Given the description of an element on the screen output the (x, y) to click on. 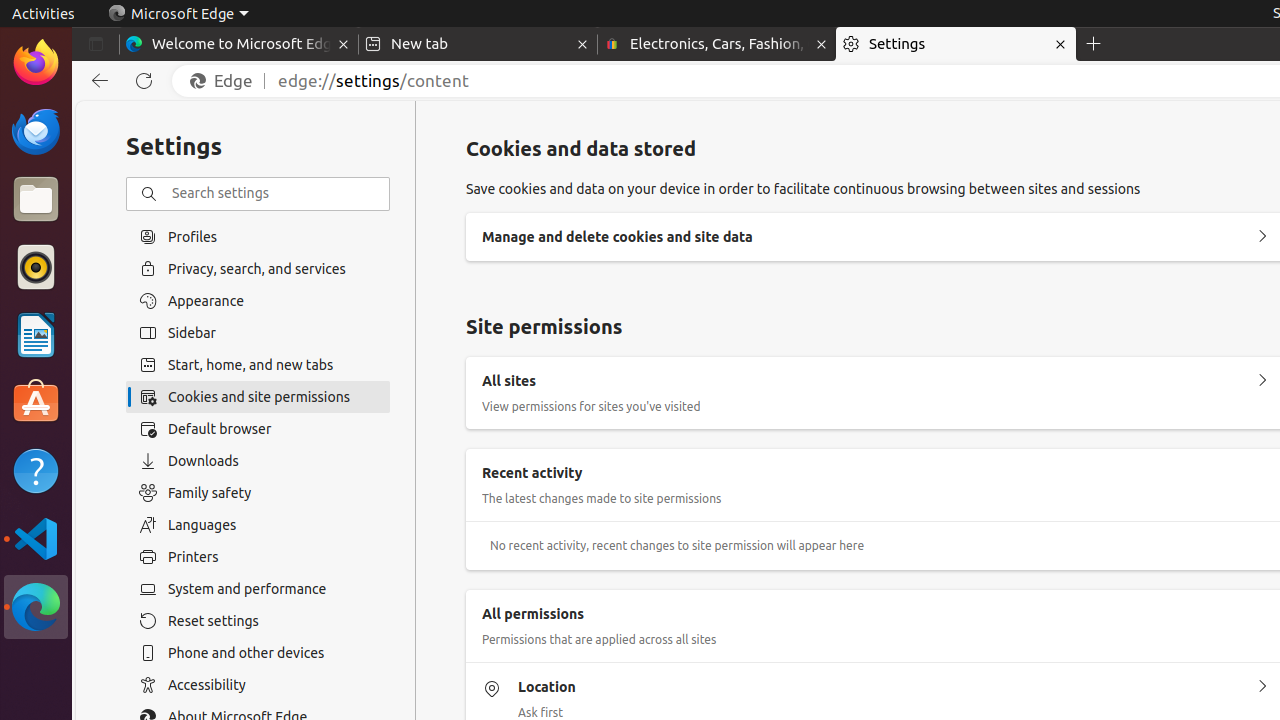
Location Element type: push-button (1262, 687)
Files Element type: push-button (36, 199)
Accessibility Element type: tree-item (258, 685)
New Tab Element type: push-button (1094, 44)
Sidebar Element type: tree-item (258, 333)
